Given the description of an element on the screen output the (x, y) to click on. 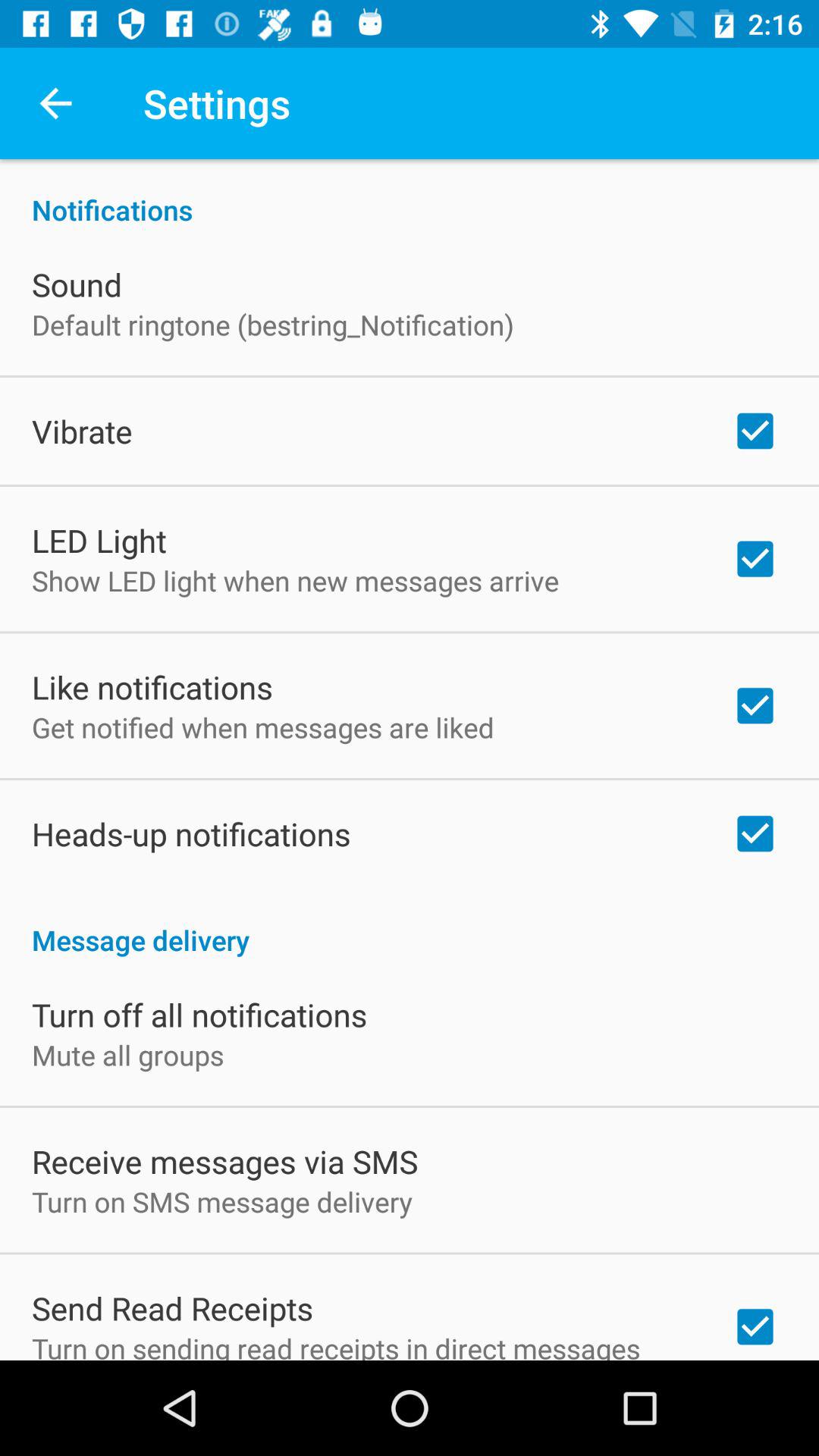
open the app next to the settings item (55, 103)
